Given the description of an element on the screen output the (x, y) to click on. 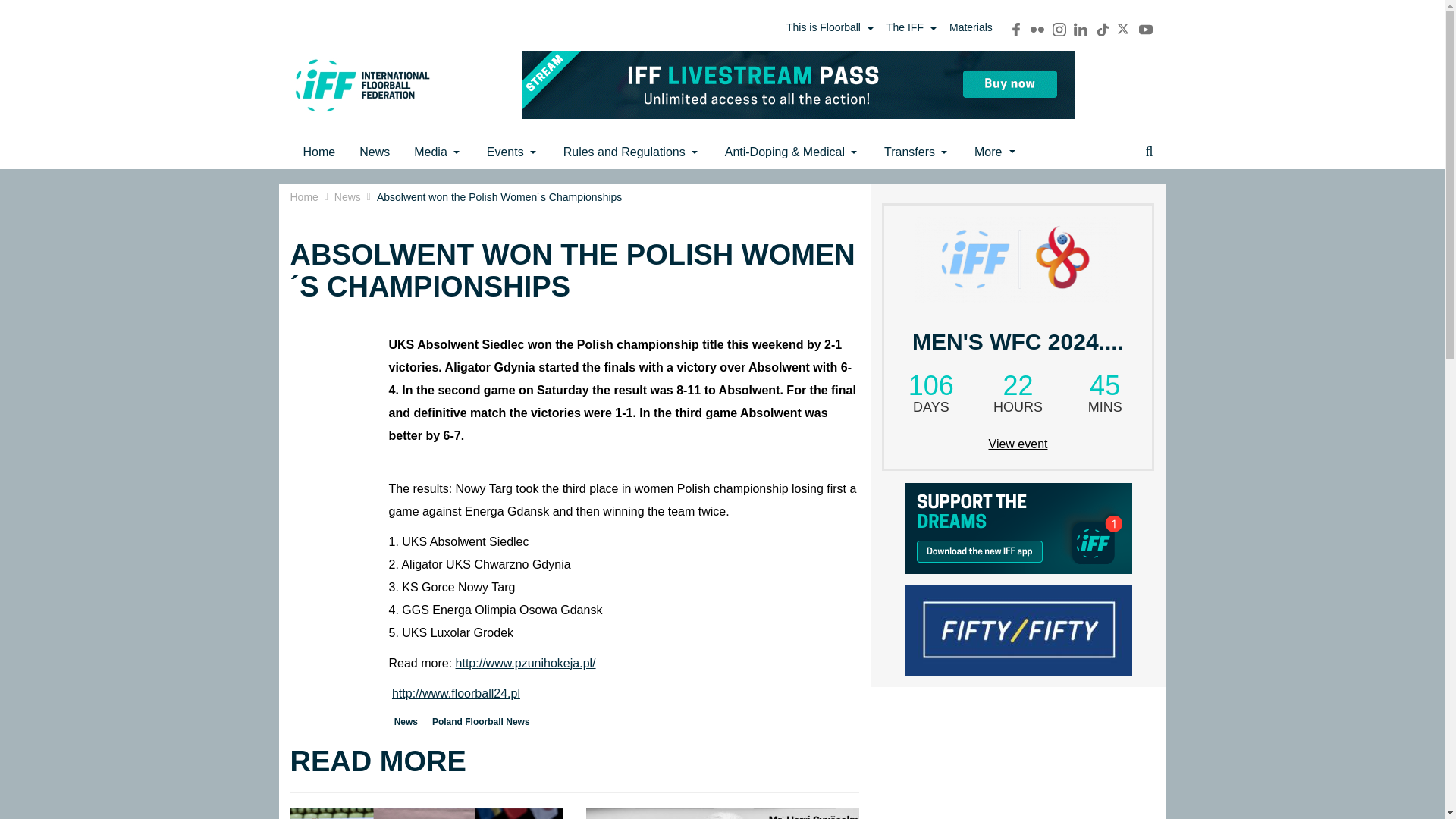
News (374, 151)
IFF Livestream pass (797, 83)
This is Floorball (830, 26)
Materials (970, 26)
The IFF (911, 26)
IFF Main Site (361, 84)
Materials (970, 26)
Home (319, 151)
Media (437, 151)
